Given the description of an element on the screen output the (x, y) to click on. 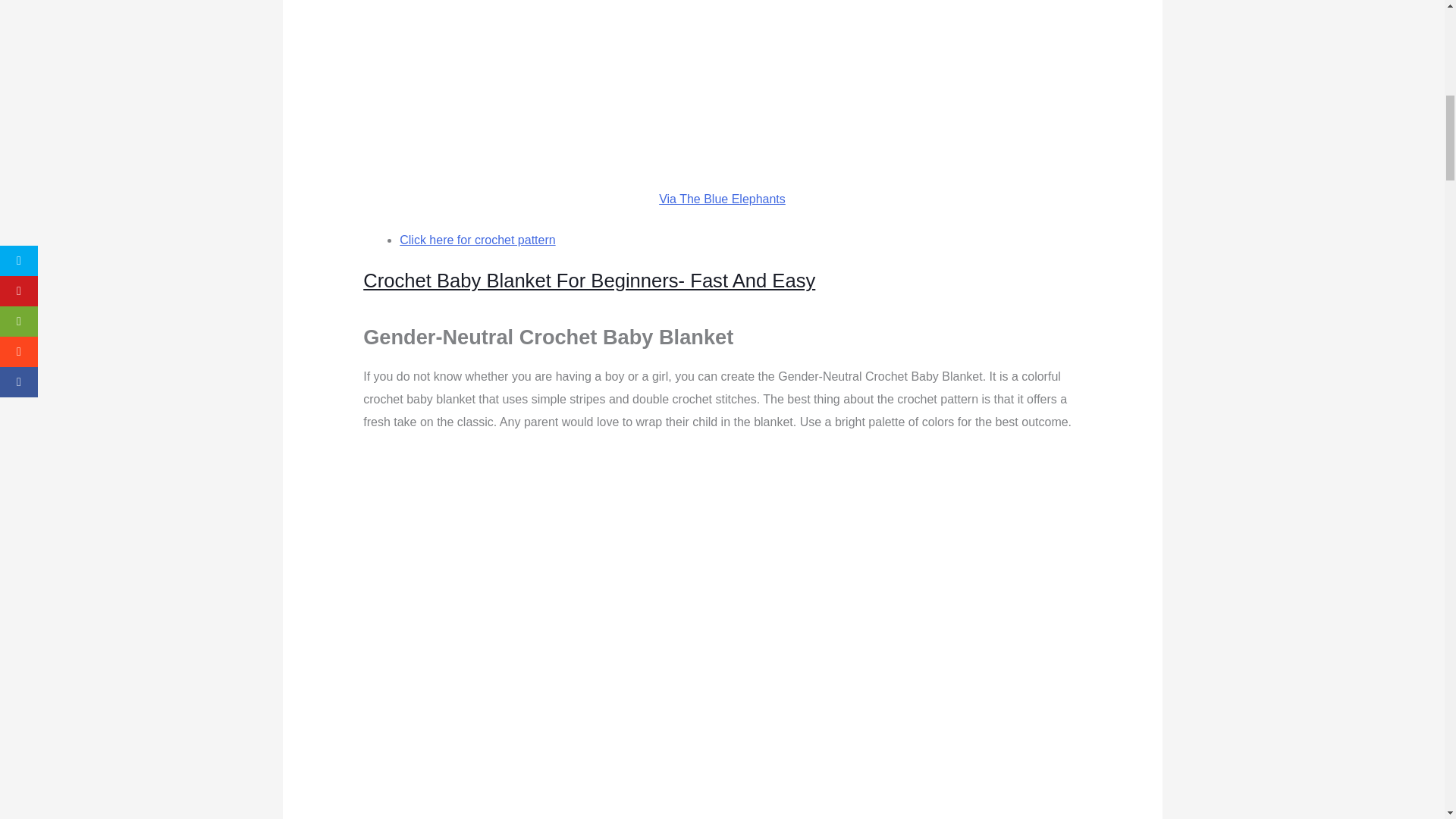
Click here for crochet pattern (476, 239)
Crochet Baby Blanket For Beginners- Fast And Easy (588, 280)
Via The Blue Elephants (722, 198)
